Given the description of an element on the screen output the (x, y) to click on. 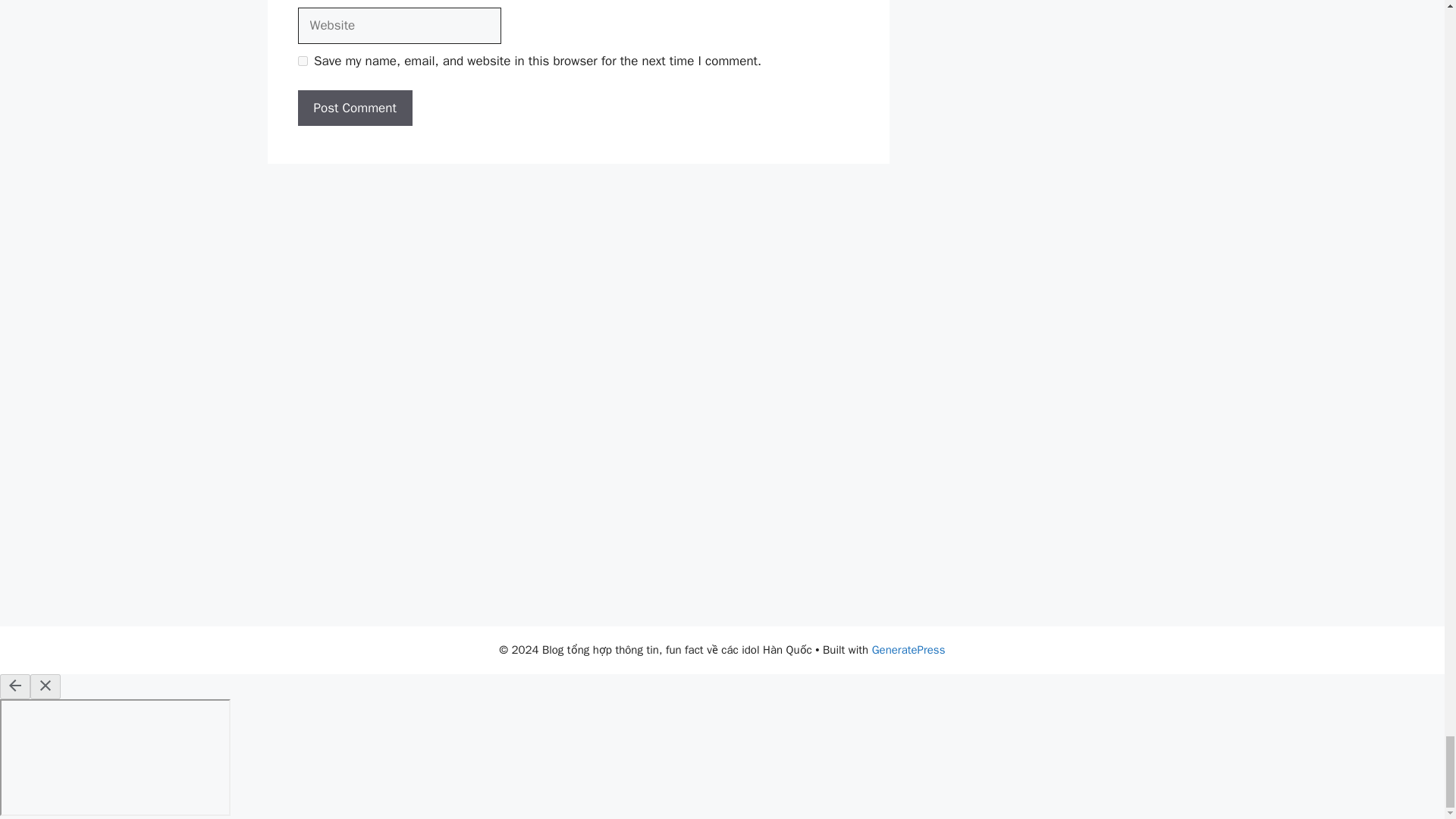
yes (302, 61)
GeneratePress (908, 649)
Post Comment (354, 108)
Post Comment (354, 108)
